Given the description of an element on the screen output the (x, y) to click on. 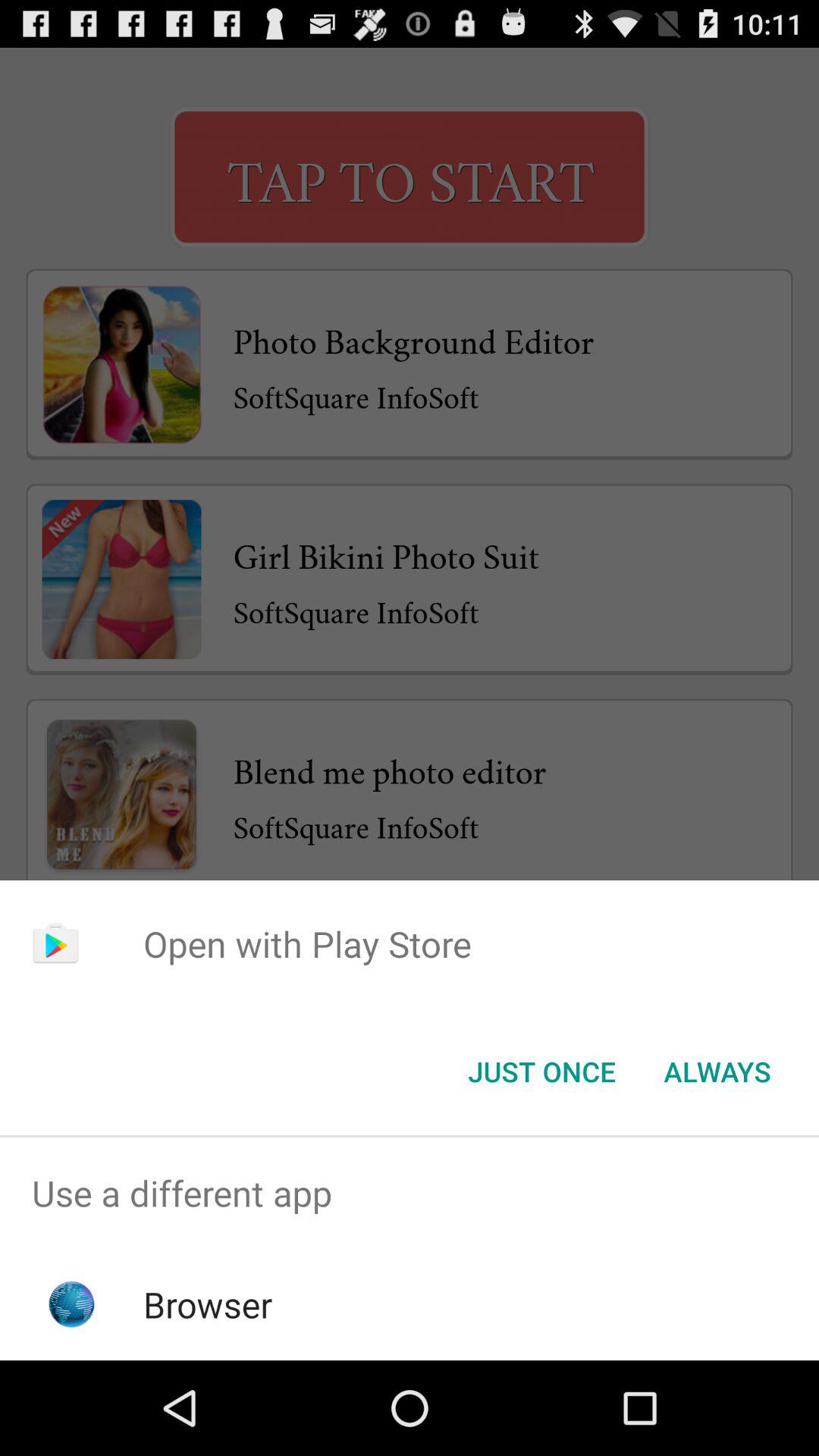
select the button to the left of the always (541, 1071)
